Given the description of an element on the screen output the (x, y) to click on. 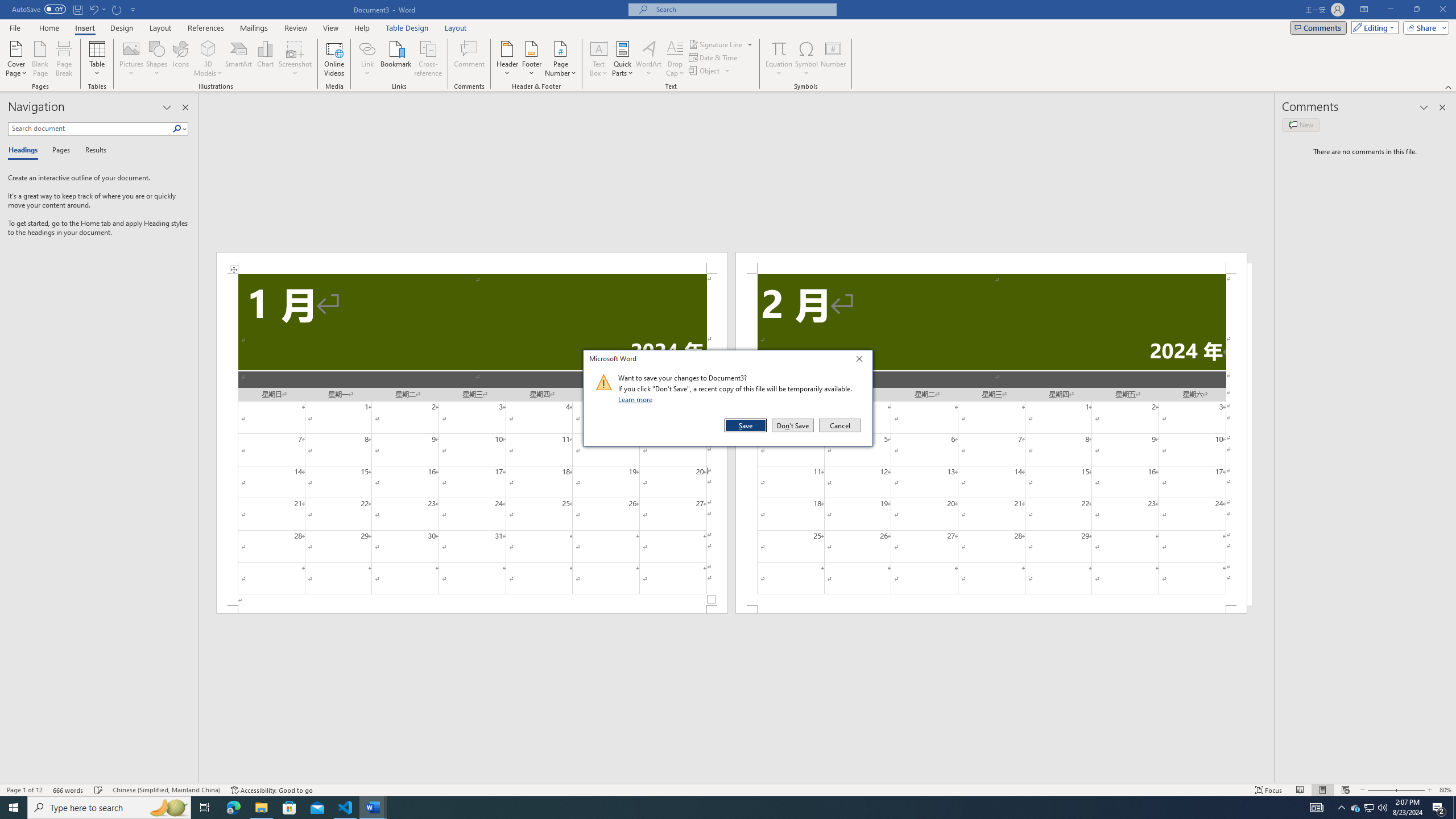
Page Break (63, 58)
User Promoted Notification Area (1368, 807)
New comment (1300, 124)
Equation (778, 58)
Start (13, 807)
More Options (778, 68)
Header -Section 2- (991, 263)
Pages (59, 150)
Class: NetUIImage (603, 382)
Share (1423, 27)
Text Box (598, 58)
Minimize (1390, 9)
Search (179, 128)
Quick Access Toolbar (74, 9)
